Given the description of an element on the screen output the (x, y) to click on. 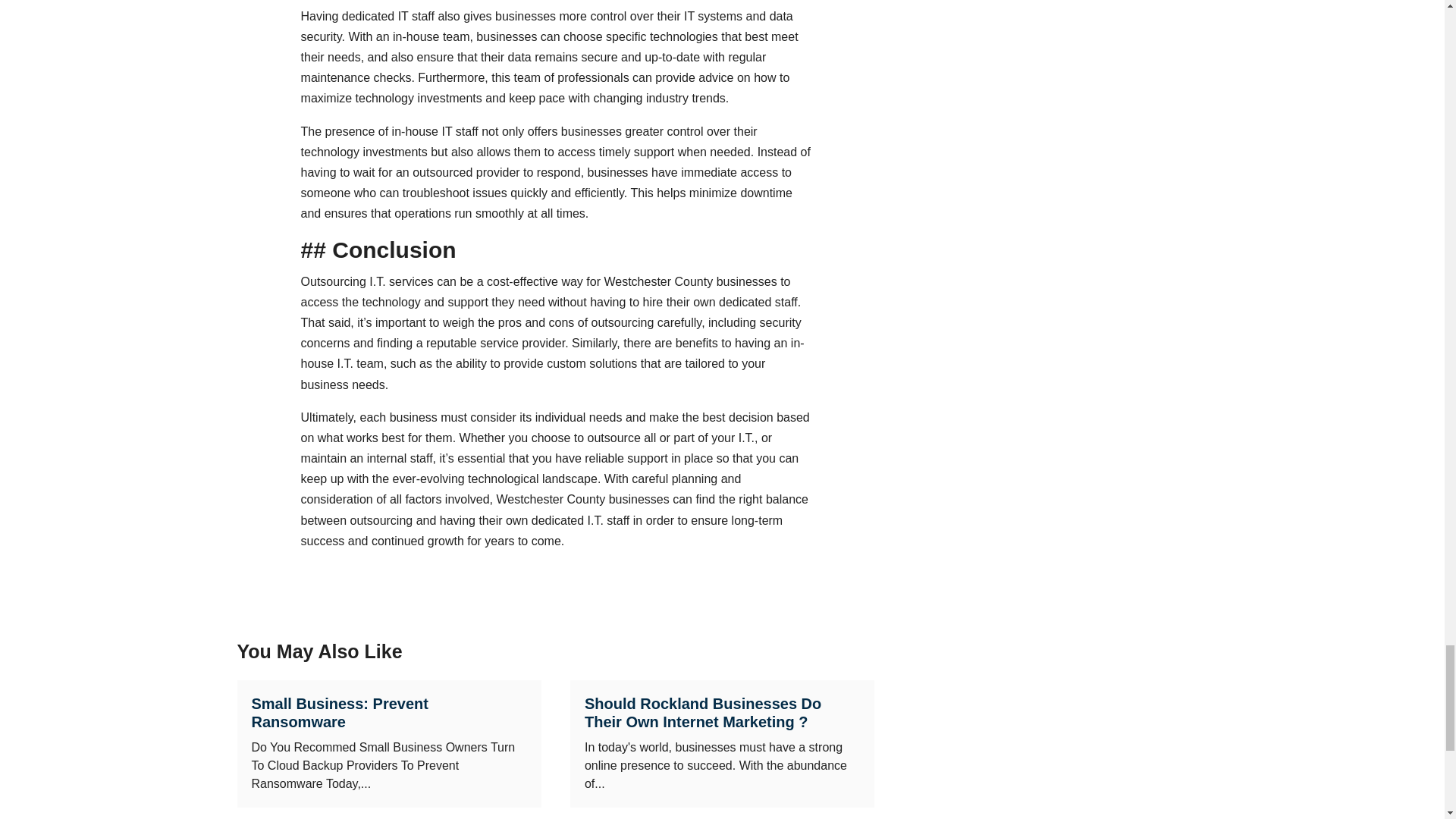
Should Rockland Businesses Do Their Own Internet Marketing ? (703, 712)
Small Business: Prevent Ransomware (339, 712)
